Given the description of an element on the screen output the (x, y) to click on. 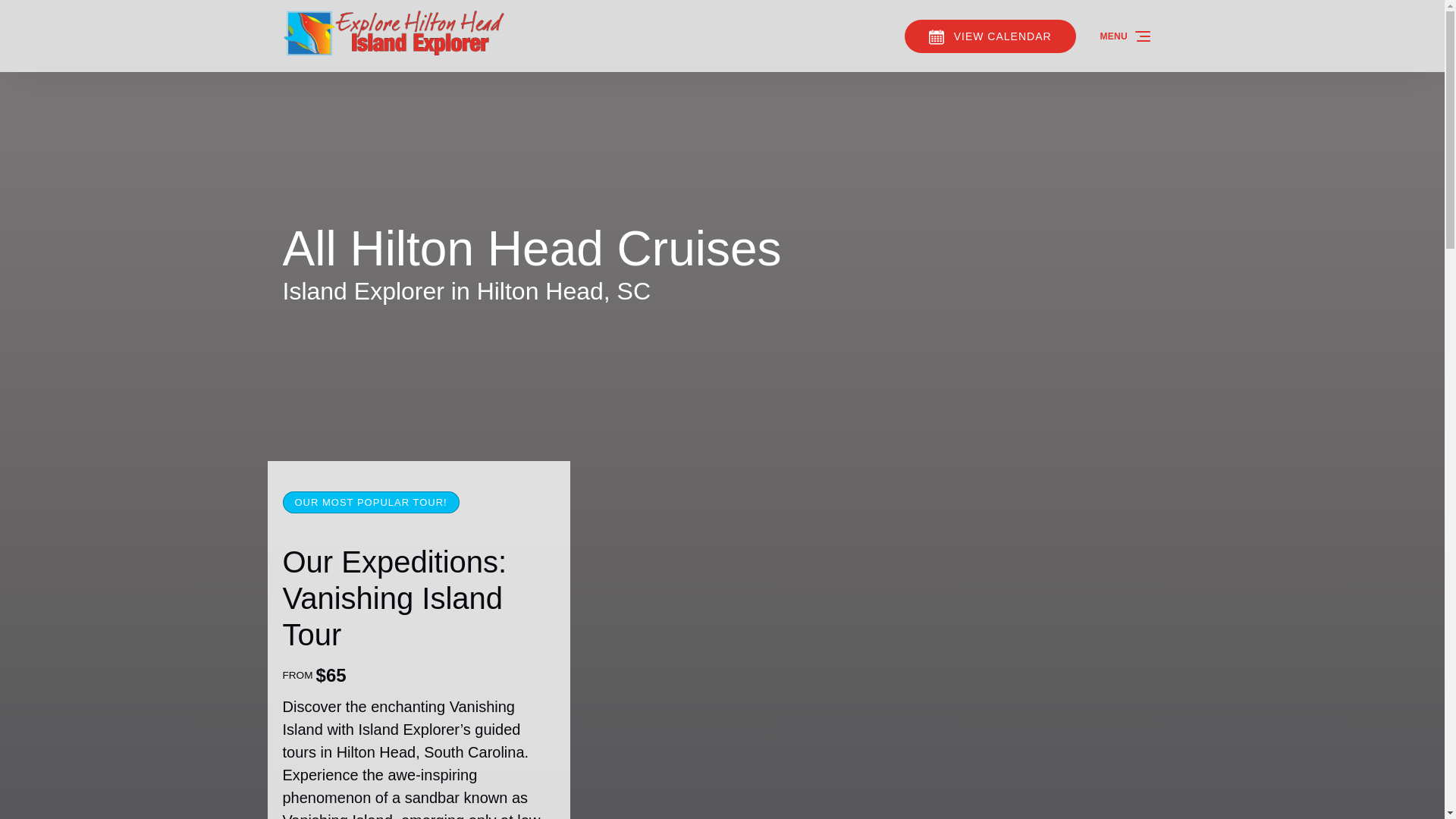
CALENDAR (935, 37)
Skip to content (47, 16)
Skip to footer (42, 16)
MENU (1125, 36)
Skip to primary navigation (77, 16)
CALENDAR VIEW CALENDAR (989, 36)
Our Expeditions: Vanishing Island Tour (394, 598)
Click here to visit Our Expeditions: Vanishing Island Tour (394, 598)
